Given the description of an element on the screen output the (x, y) to click on. 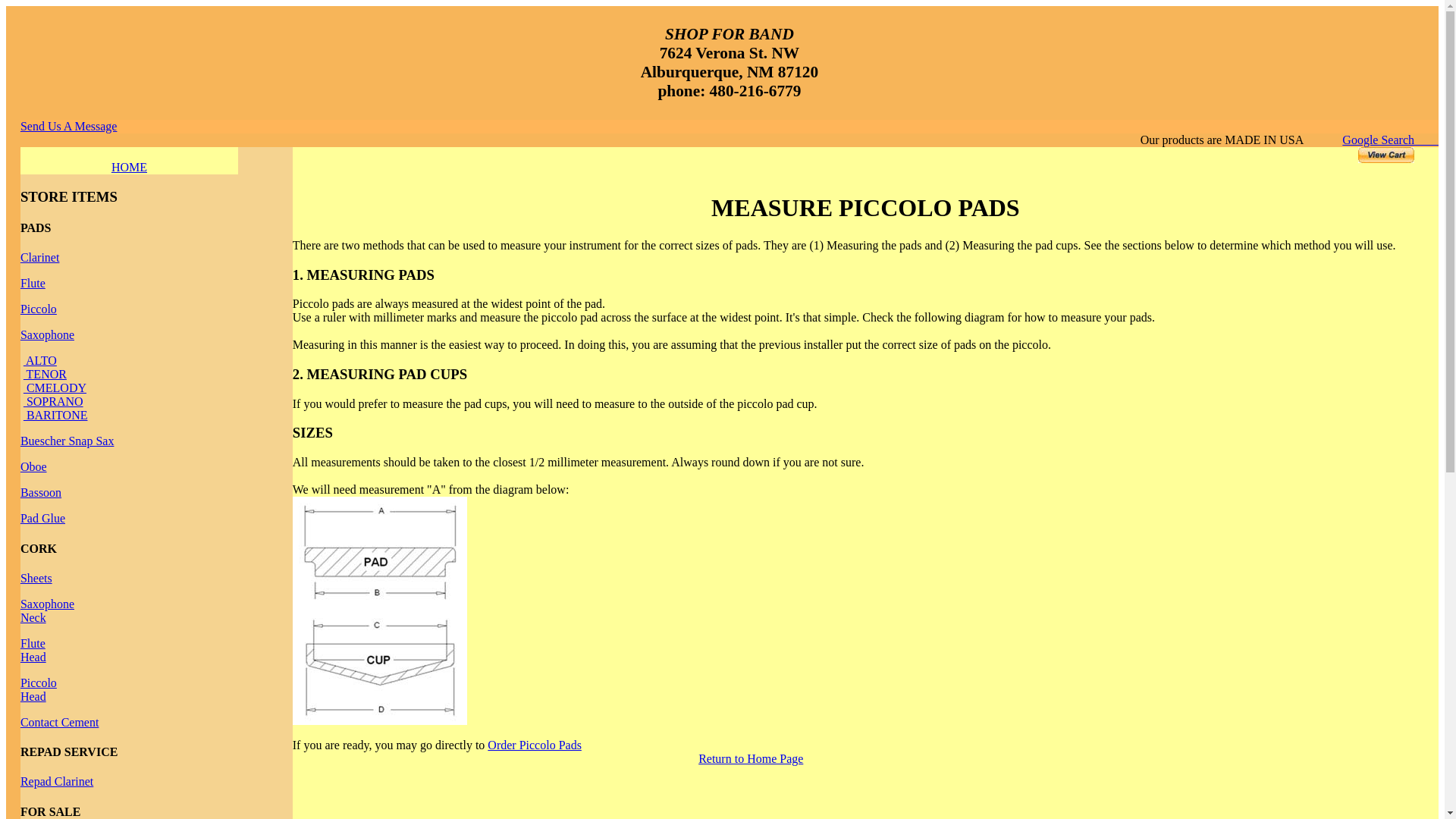
Contact Cement (59, 721)
Buescher Snap Sax (67, 440)
Pad Glue (42, 517)
HOME (129, 166)
SOPRANO (52, 400)
Send Us A Message (68, 125)
Repad Clarinet (56, 780)
Oboe (33, 466)
Google Search         (1390, 139)
Clarinet (39, 256)
Bassoon (40, 492)
ALTO (39, 359)
TENOR (33, 650)
Piccolo (44, 373)
